Given the description of an element on the screen output the (x, y) to click on. 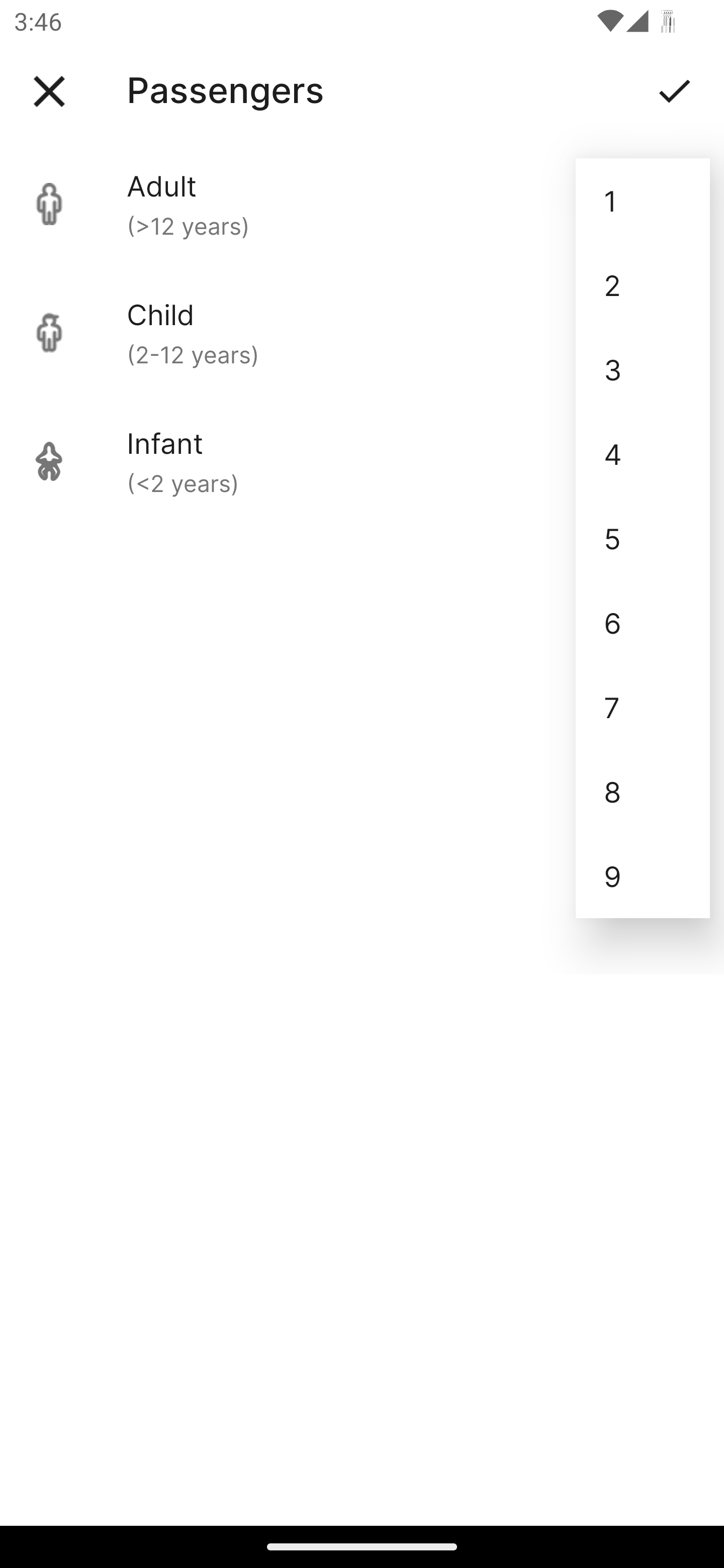
1 (642, 200)
2 (642, 285)
3 (642, 368)
4 (642, 452)
5 (642, 537)
6 (642, 622)
7 (642, 706)
8 (642, 791)
9 (642, 876)
